Given the description of an element on the screen output the (x, y) to click on. 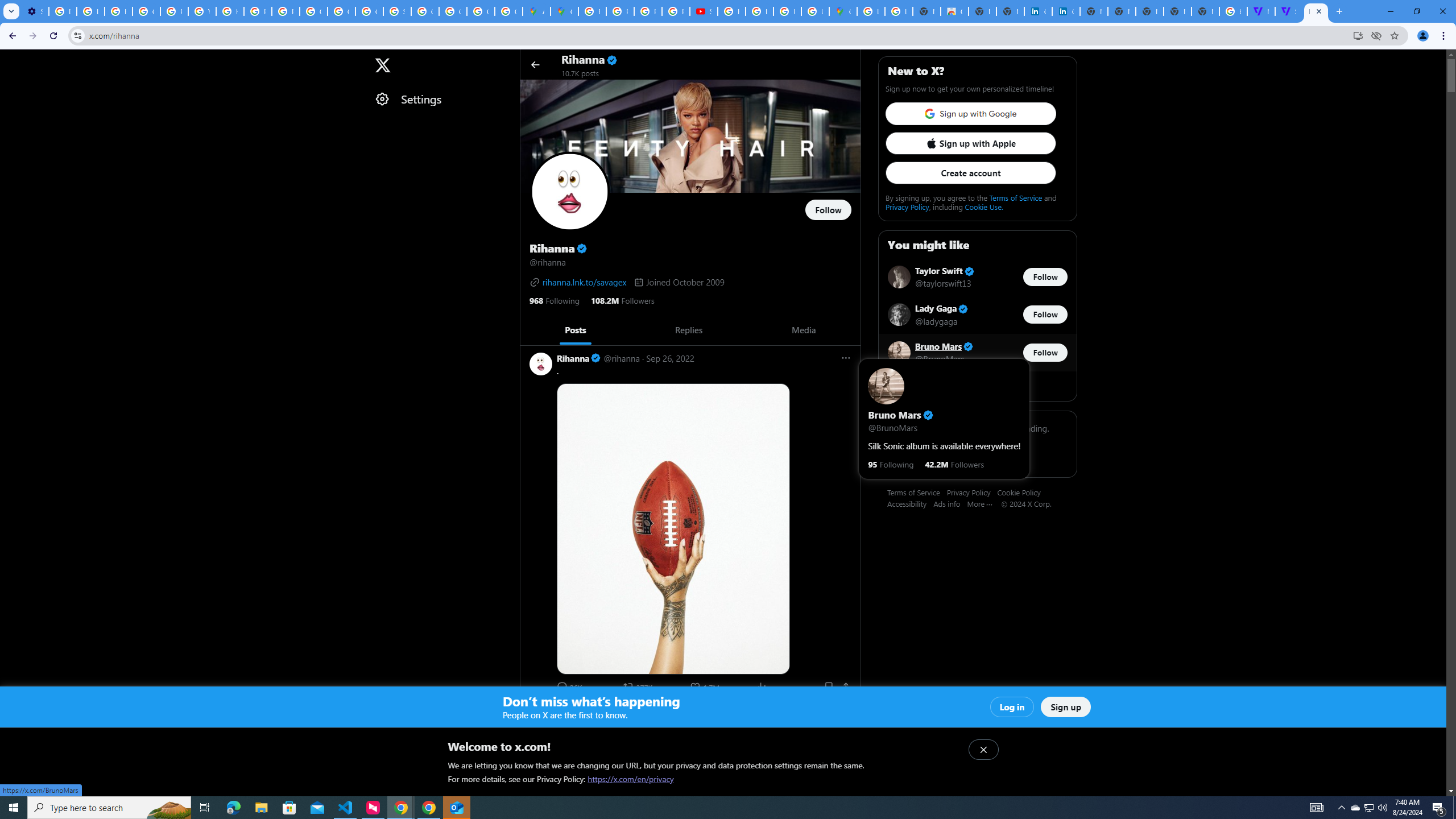
Streaming - The Verge (1288, 11)
377632 reposts. Repost (639, 686)
Feb 16, 2023 (670, 711)
Accessibility (909, 503)
108.2M Followers (622, 300)
Verified account (968, 346)
